Given the description of an element on the screen output the (x, y) to click on. 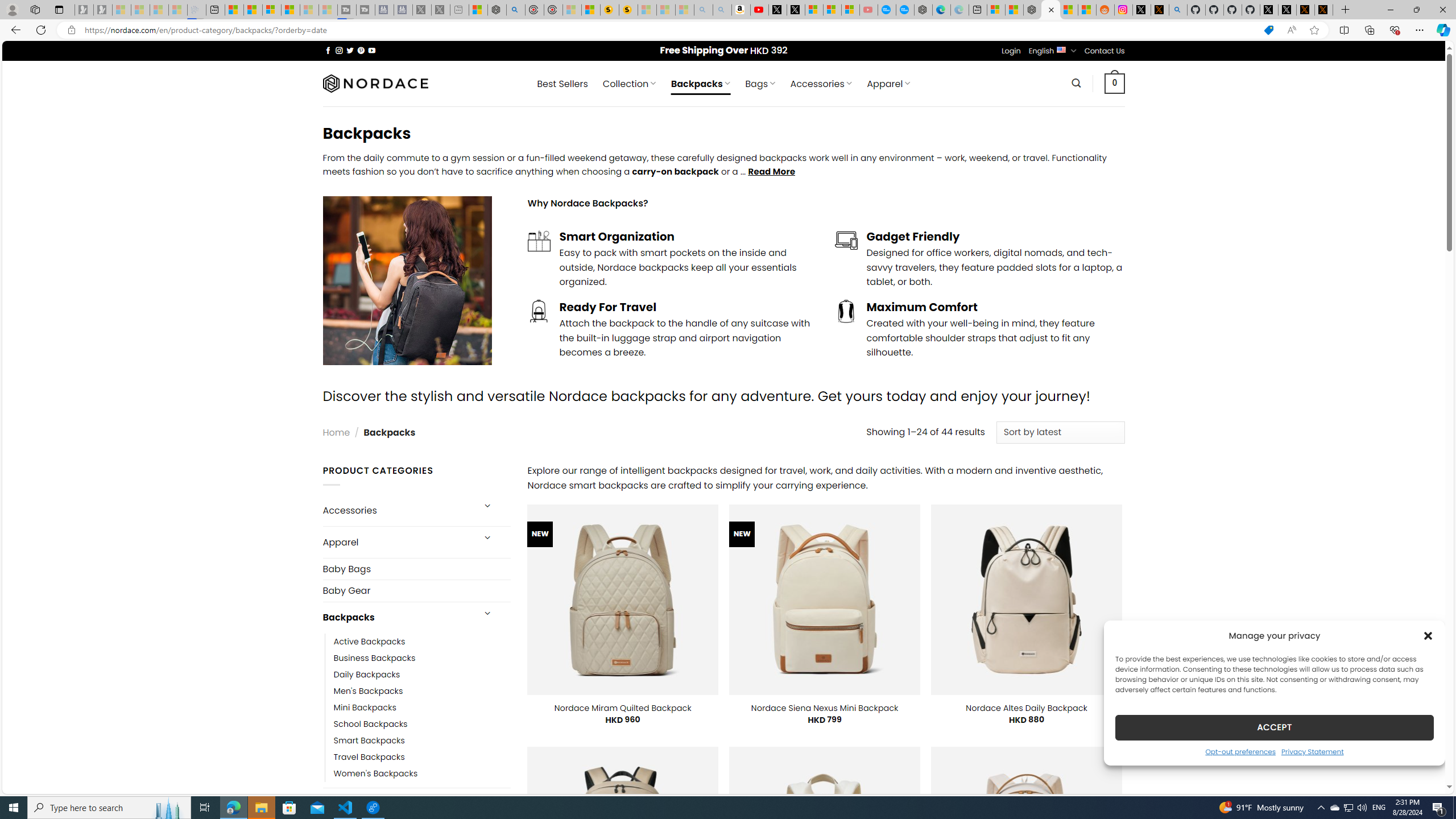
Active Backpacks (369, 641)
Baby Gear (416, 590)
 0  (1115, 83)
Men's Backpacks (368, 690)
Day 1: Arriving in Yemen (surreal to be here) - YouTube (759, 9)
Opinion: Op-Ed and Commentary - USA TODAY (887, 9)
Privacy Statement (1312, 750)
